Given the description of an element on the screen output the (x, y) to click on. 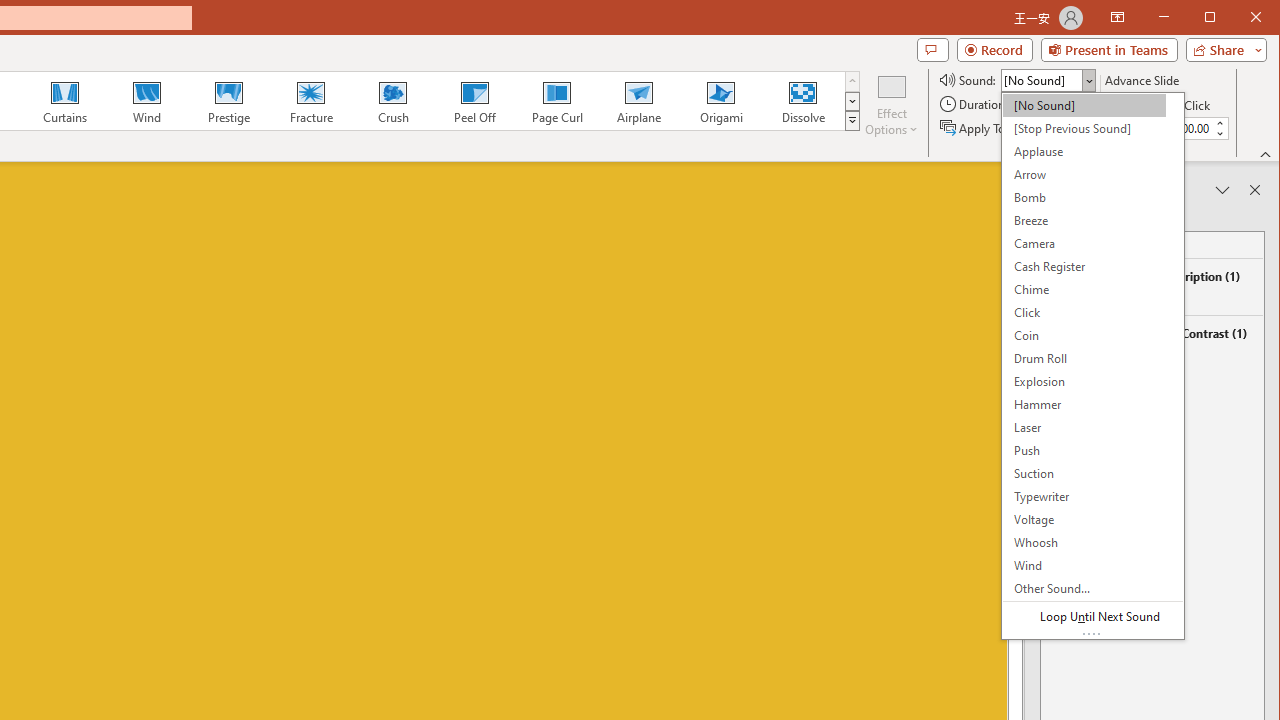
Origami (720, 100)
